Given the description of an element on the screen output the (x, y) to click on. 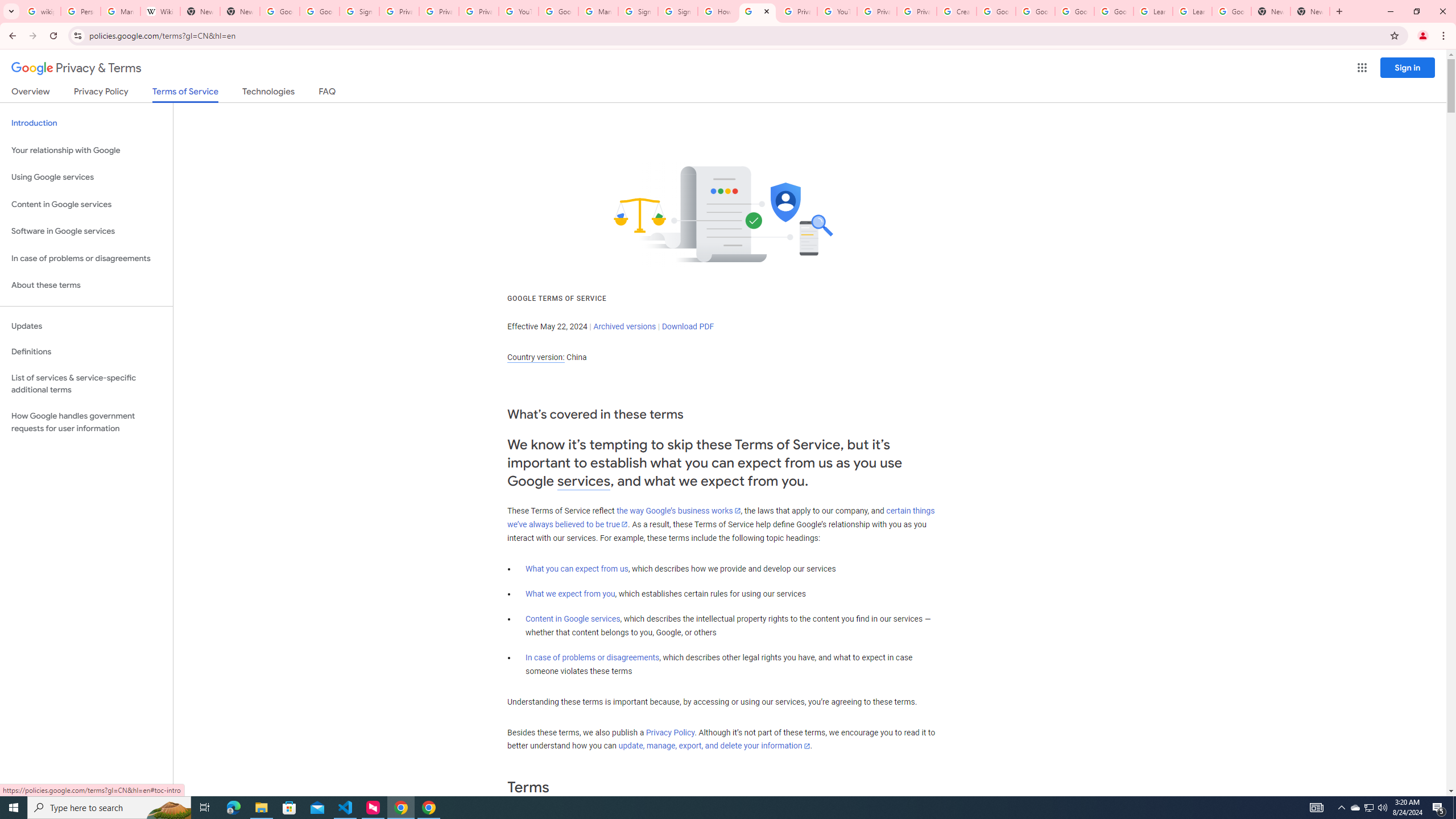
Create your Google Account (956, 11)
New Tab (239, 11)
Google Account (1231, 11)
Privacy & Terms (76, 68)
Google Account Help (995, 11)
Updates (86, 325)
Google Account Help (1074, 11)
services (583, 480)
Software in Google services (86, 230)
Your relationship with Google (86, 150)
